Given the description of an element on the screen output the (x, y) to click on. 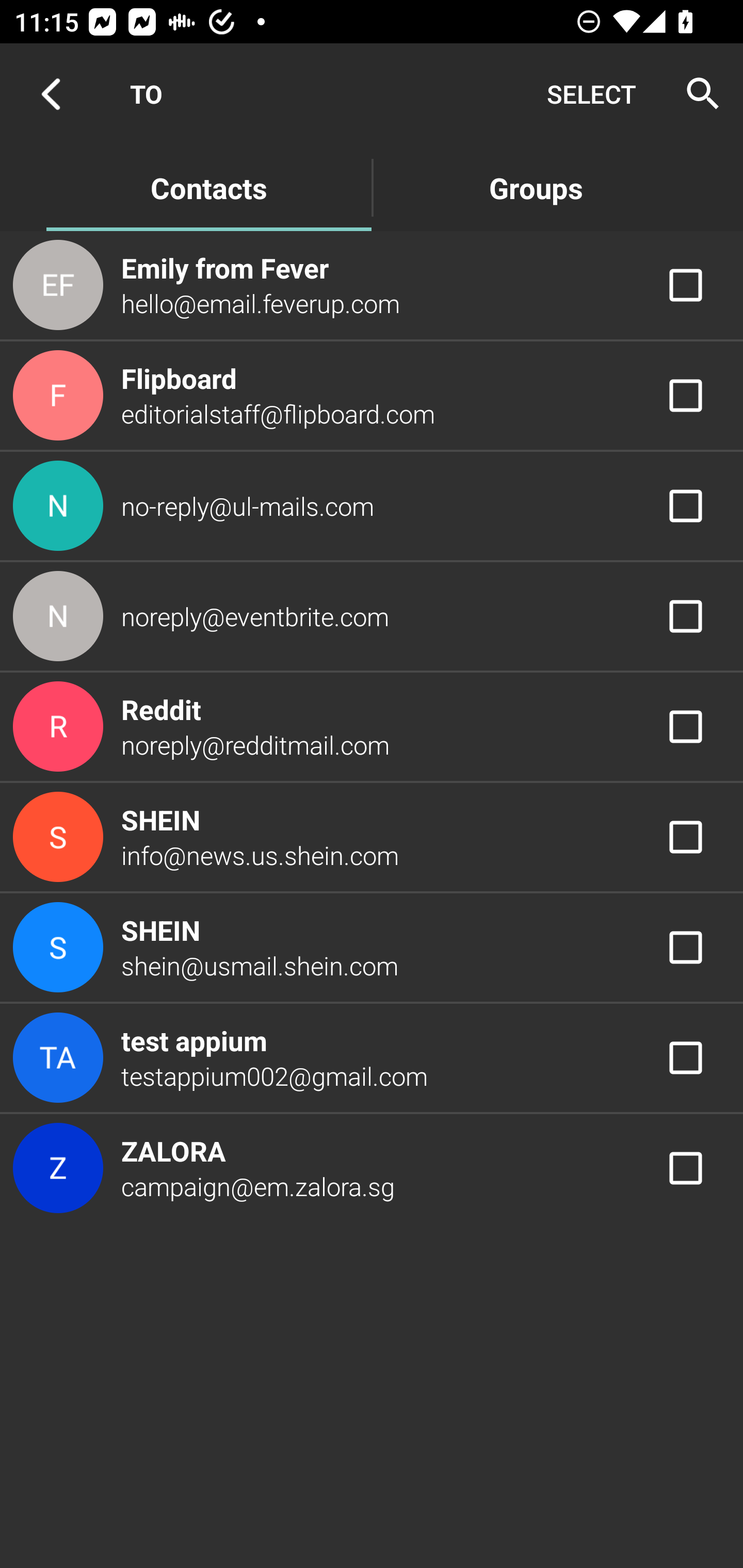
Navigate up (50, 93)
SELECT (590, 93)
Search (696, 93)
Contacts (208, 187)
Groups (535, 187)
Emily from Fever hello@email.feverup.com (371, 284)
Flipboard editorialstaff@flipboard.com (371, 395)
no-reply@ul-mails.com (371, 505)
noreply@eventbrite.com (371, 616)
Reddit noreply@redditmail.com (371, 726)
SHEIN info@news.us.shein.com (371, 836)
SHEIN shein@usmail.shein.com (371, 947)
test appium testappium002@gmail.com (371, 1057)
ZALORA campaign@em.zalora.sg (371, 1168)
